Given the description of an element on the screen output the (x, y) to click on. 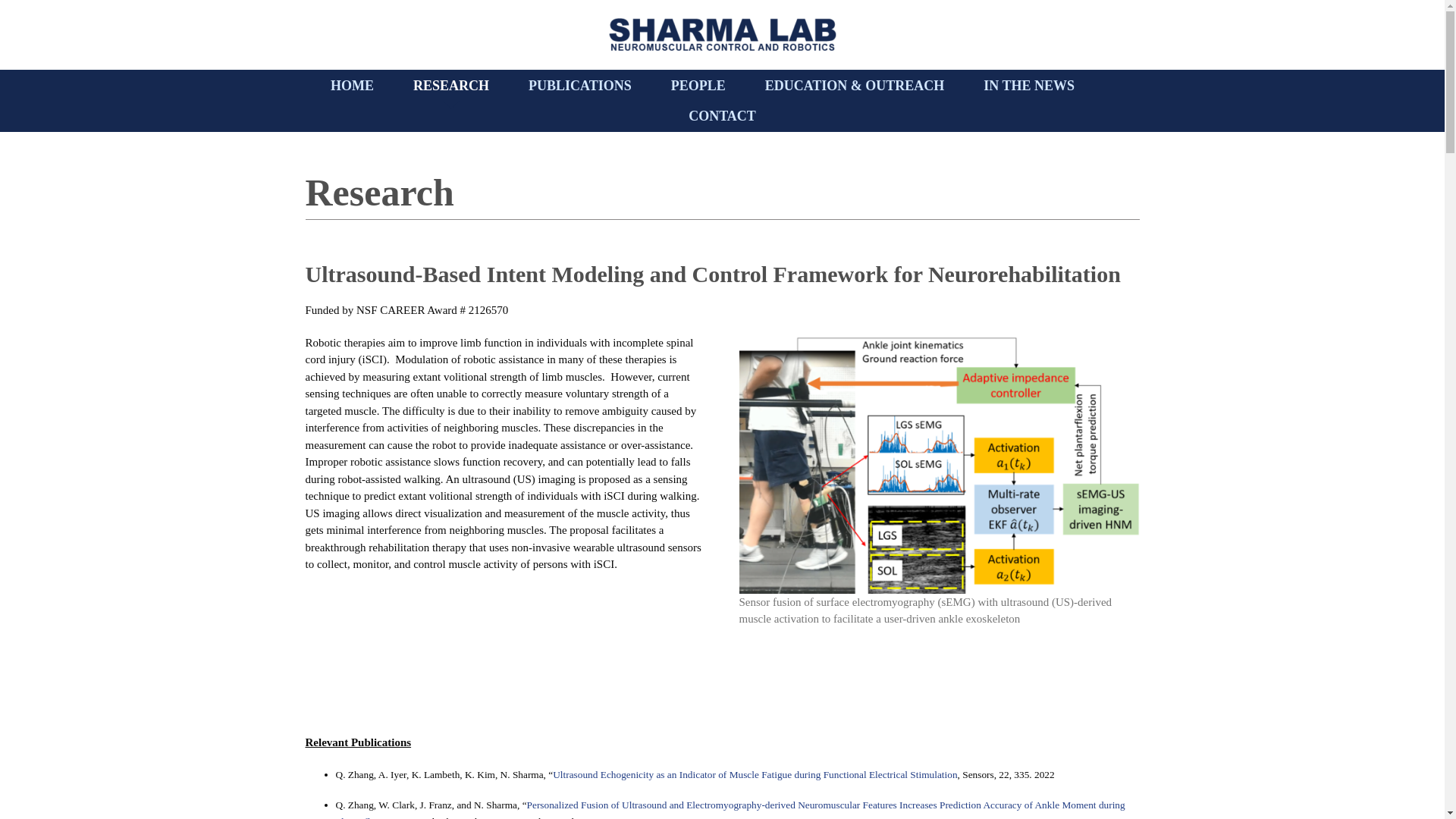
IN THE NEWS (1029, 85)
HOME (352, 85)
RESEARCH (451, 85)
PEOPLE (698, 85)
PUBLICATIONS (579, 85)
CONTACT (721, 115)
